Given the description of an element on the screen output the (x, y) to click on. 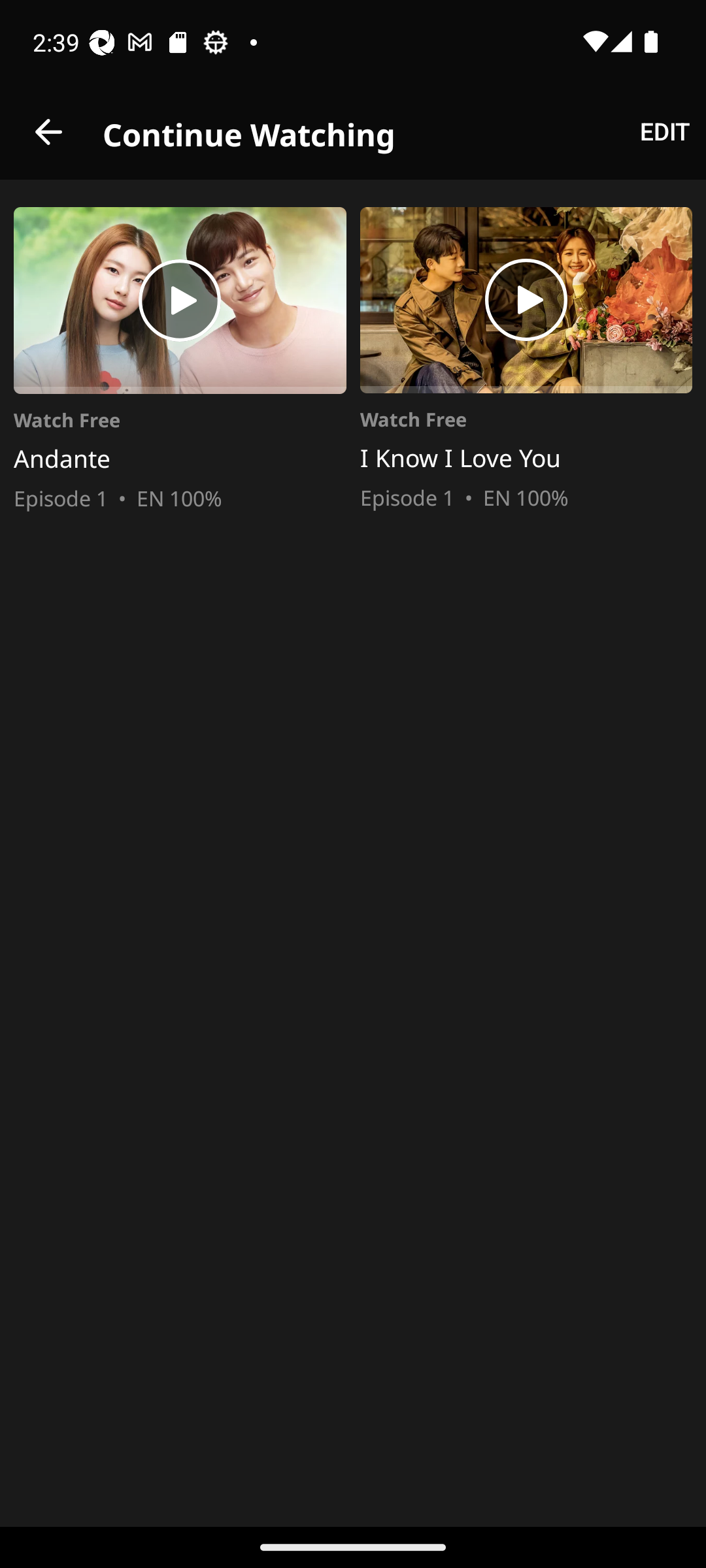
close_button (48, 131)
EDIT (664, 131)
